Given the description of an element on the screen output the (x, y) to click on. 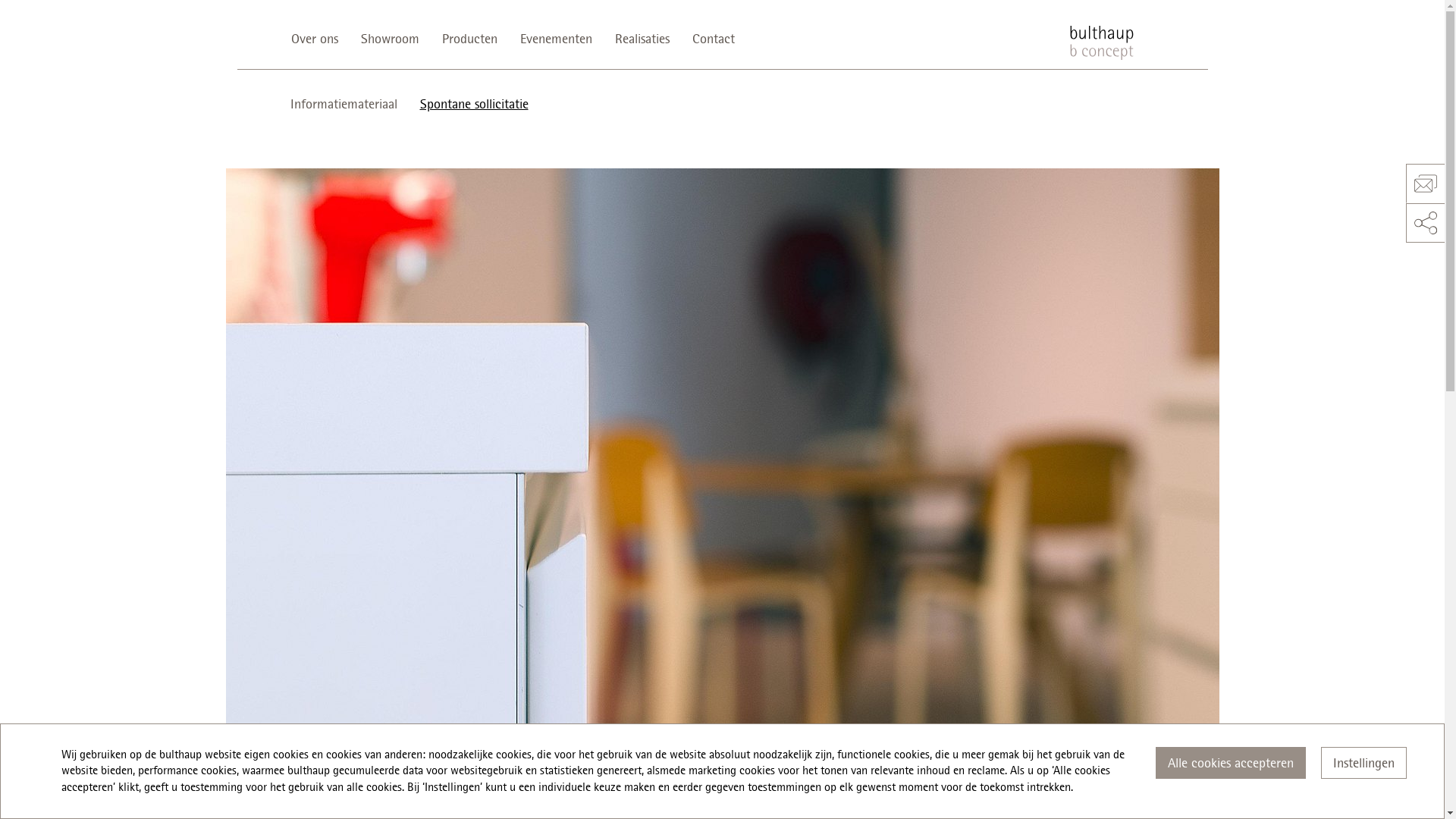
share Element type: hover (1425, 222)
Alle cookies accepteren Element type: text (1230, 762)
contact Element type: hover (1425, 183)
Producten Element type: text (469, 38)
Instellingen Element type: text (1363, 762)
Realisaties Element type: text (641, 38)
Over ons Element type: text (320, 38)
Spontane sollicitatie Element type: text (473, 103)
Informatiemateriaal Element type: text (348, 103)
Instellingen Element type: text (1363, 762)
Contact Element type: text (713, 38)
Evenementen Element type: text (555, 38)
Showroom Element type: text (388, 38)
Alle cookies accepteren Element type: text (1230, 762)
